Given the description of an element on the screen output the (x, y) to click on. 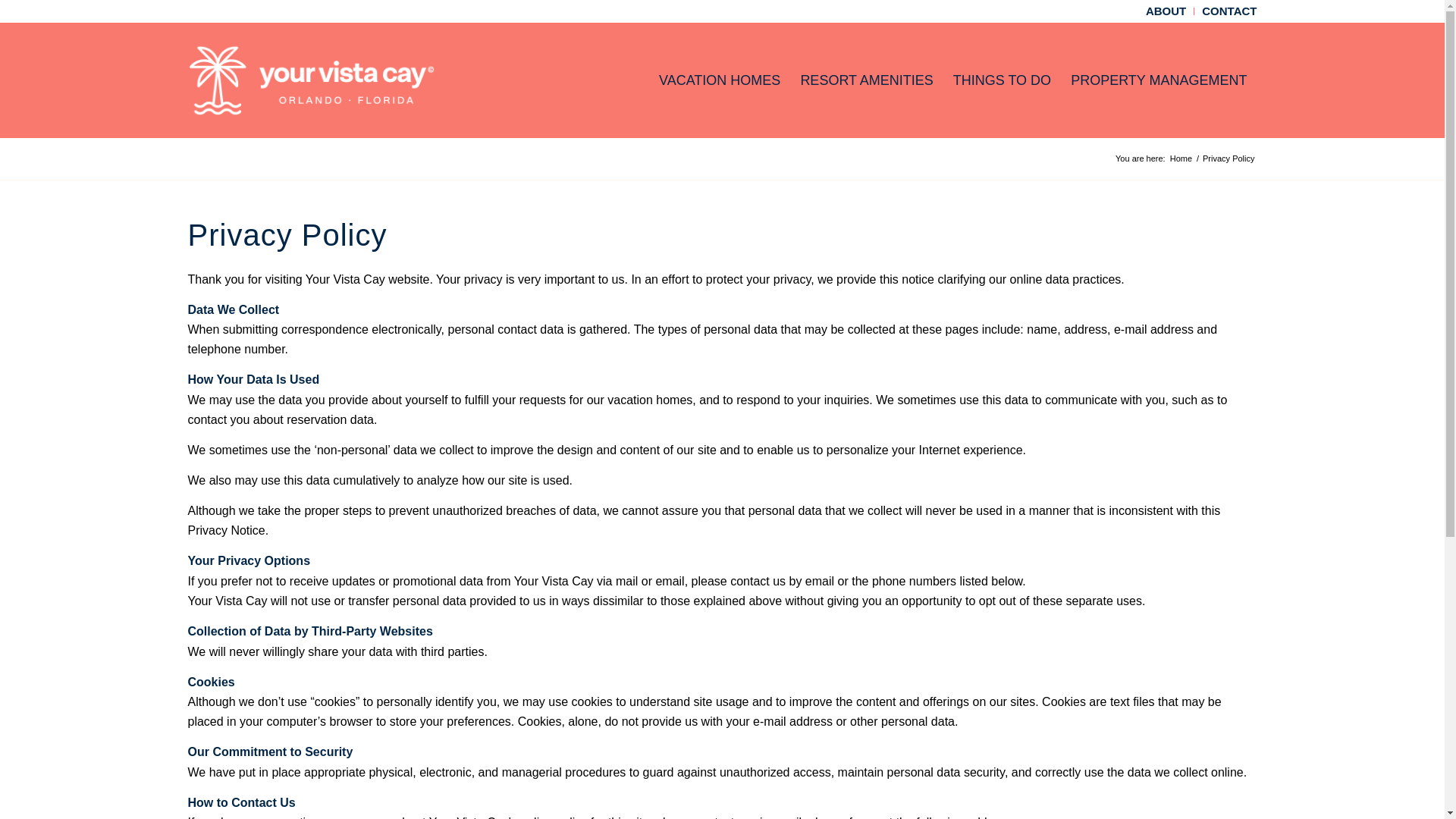
Your Vista Cay (1180, 158)
RESORT AMENITIES (866, 80)
CONTACT (1229, 11)
ABOUT (1165, 11)
VACATION HOMES (719, 80)
Your Vista Cay White Logo (311, 80)
Home (1180, 158)
PROPERTY MANAGEMENT (1158, 80)
THINGS TO DO (1002, 80)
